Given the description of an element on the screen output the (x, y) to click on. 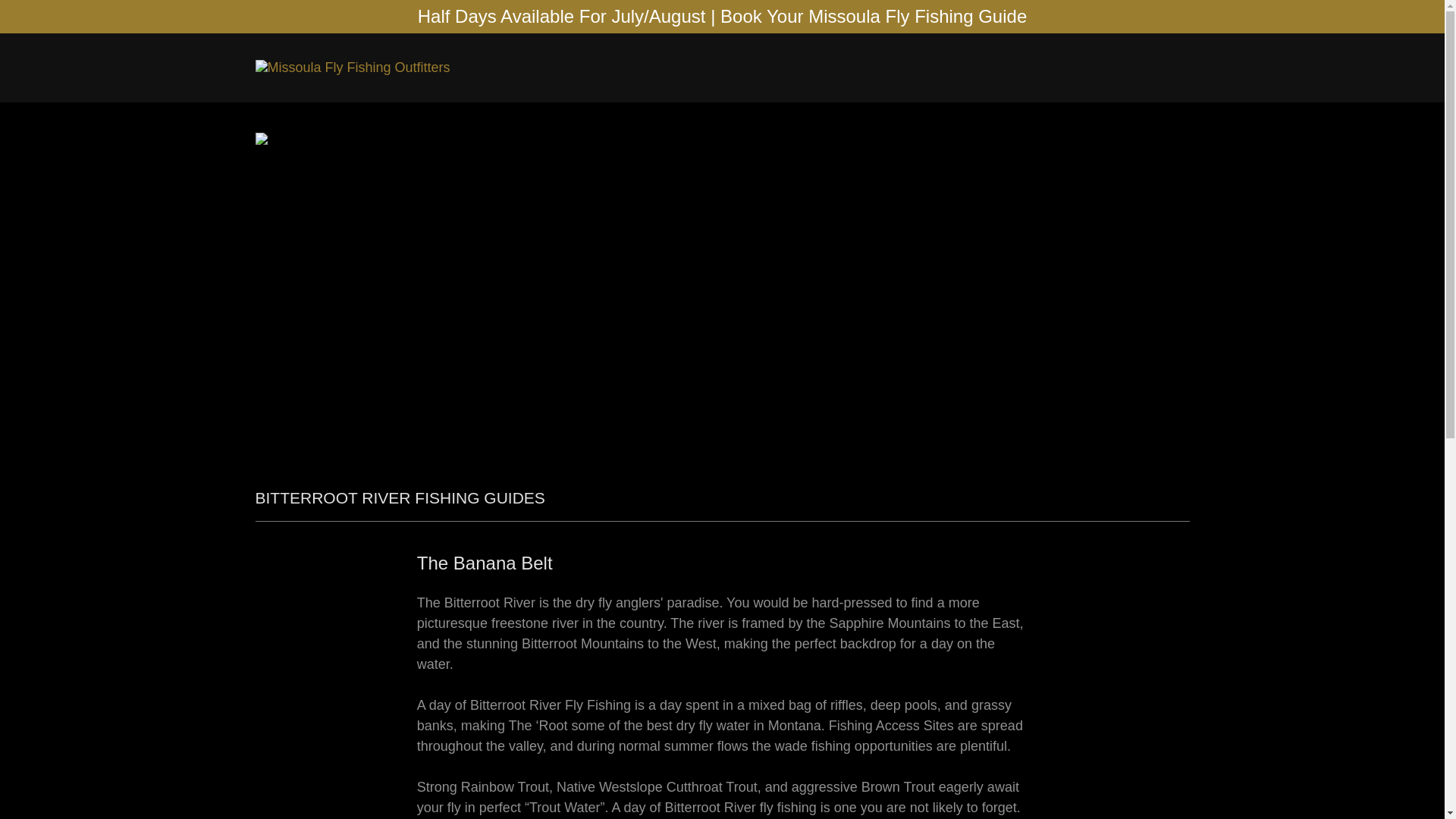
Missoula Fly Fishing Outfitters (351, 67)
